Given the description of an element on the screen output the (x, y) to click on. 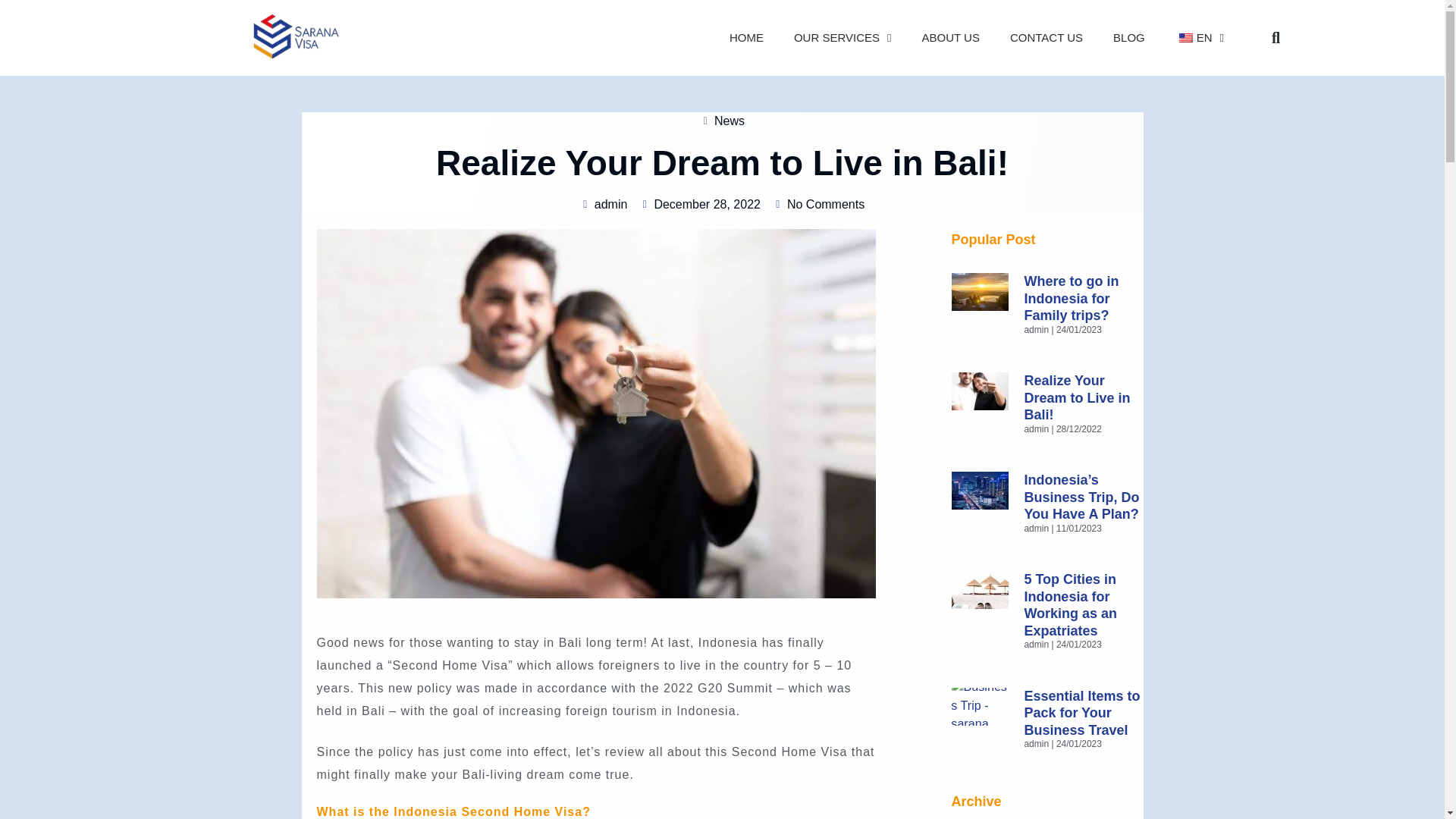
CONTACT US (1045, 38)
OUR SERVICES (842, 38)
English (1185, 37)
ABOUT US (950, 38)
EN (1199, 38)
